Given the description of an element on the screen output the (x, y) to click on. 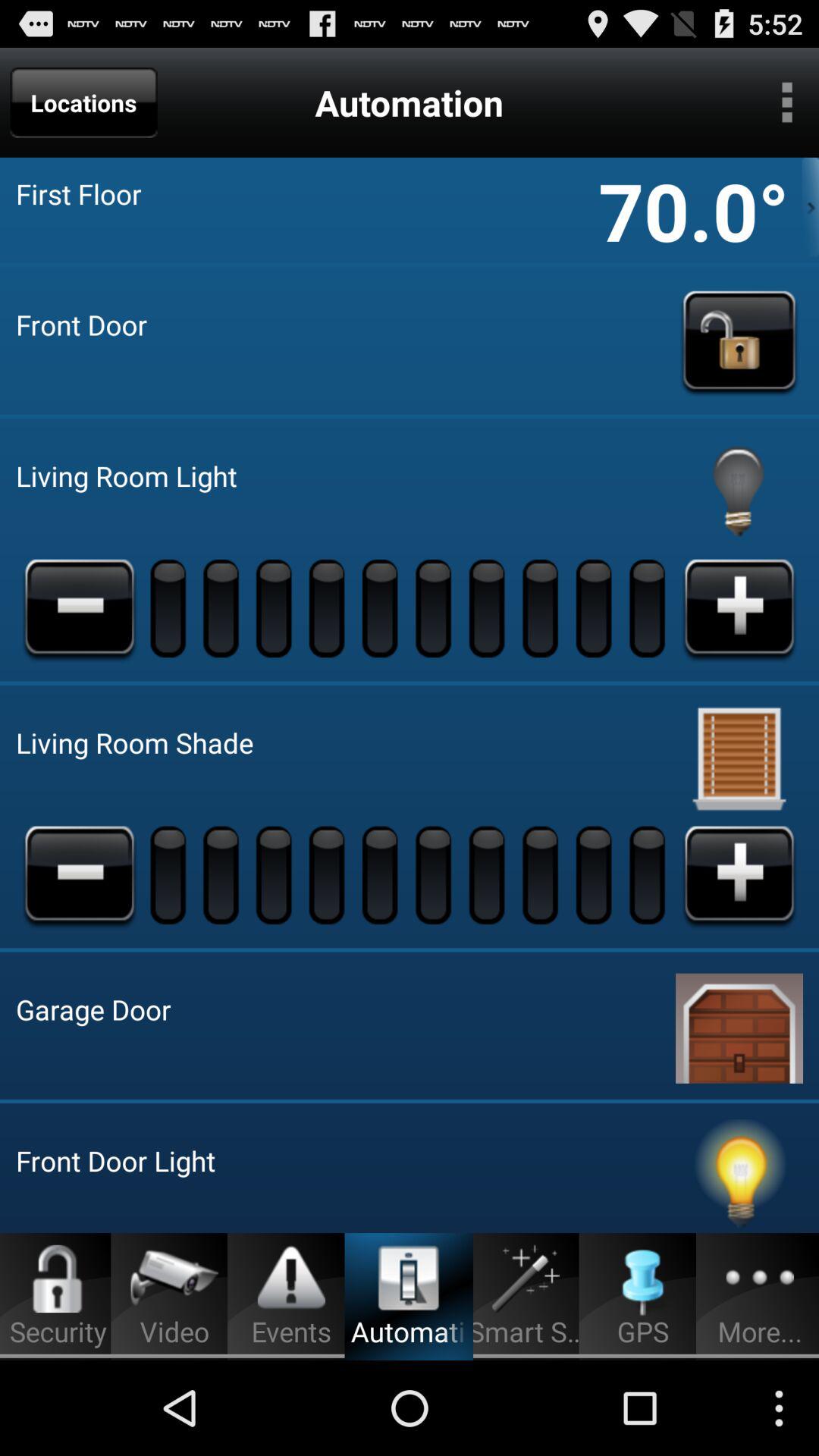
turn down the living room light (79, 607)
